Given the description of an element on the screen output the (x, y) to click on. 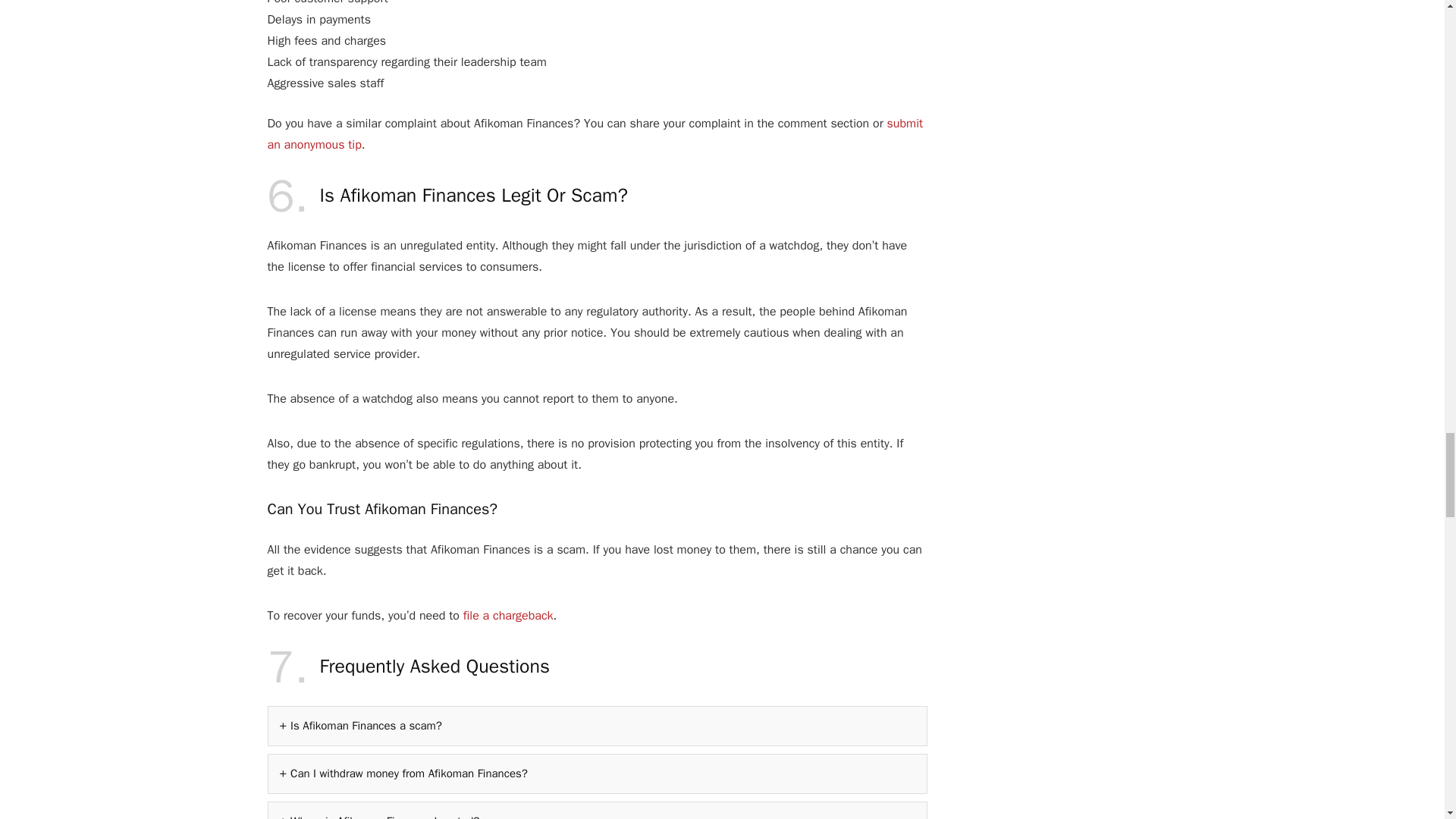
submit an anonymous tip (594, 134)
MyCB (508, 615)
file a chargeback (508, 615)
